Given the description of an element on the screen output the (x, y) to click on. 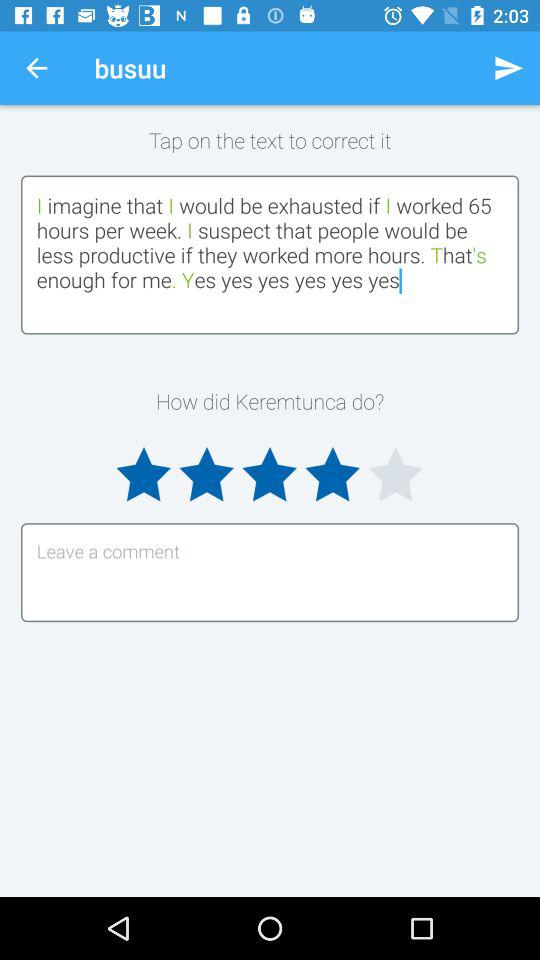
click i imagine that item (270, 254)
